Given the description of an element on the screen output the (x, y) to click on. 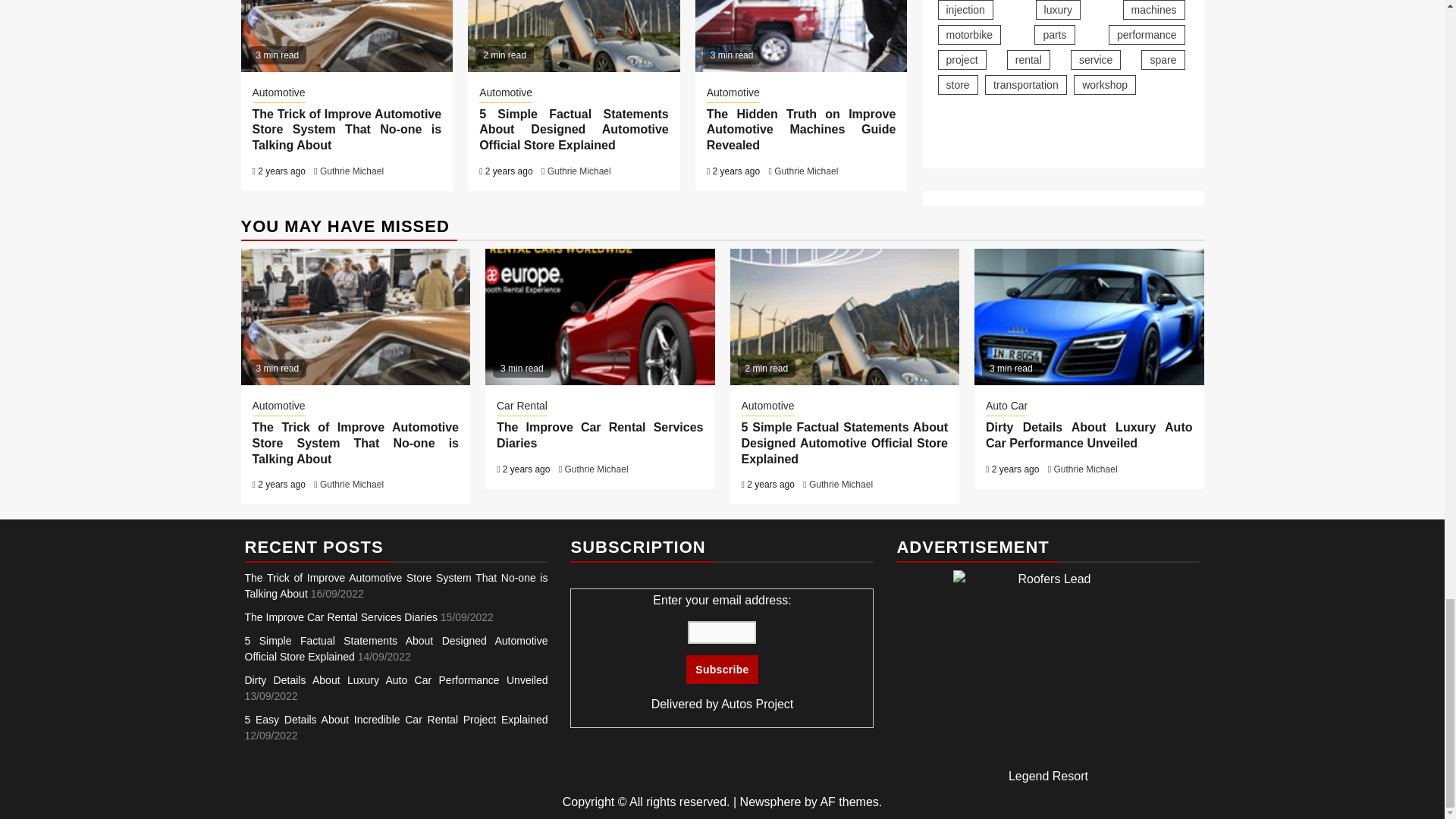
Automotive (277, 93)
Automotive (505, 93)
Guthrie Michael (352, 171)
Guthrie Michael (806, 171)
Guthrie Michael (579, 171)
Automotive (733, 93)
Subscribe (721, 669)
